Given the description of an element on the screen output the (x, y) to click on. 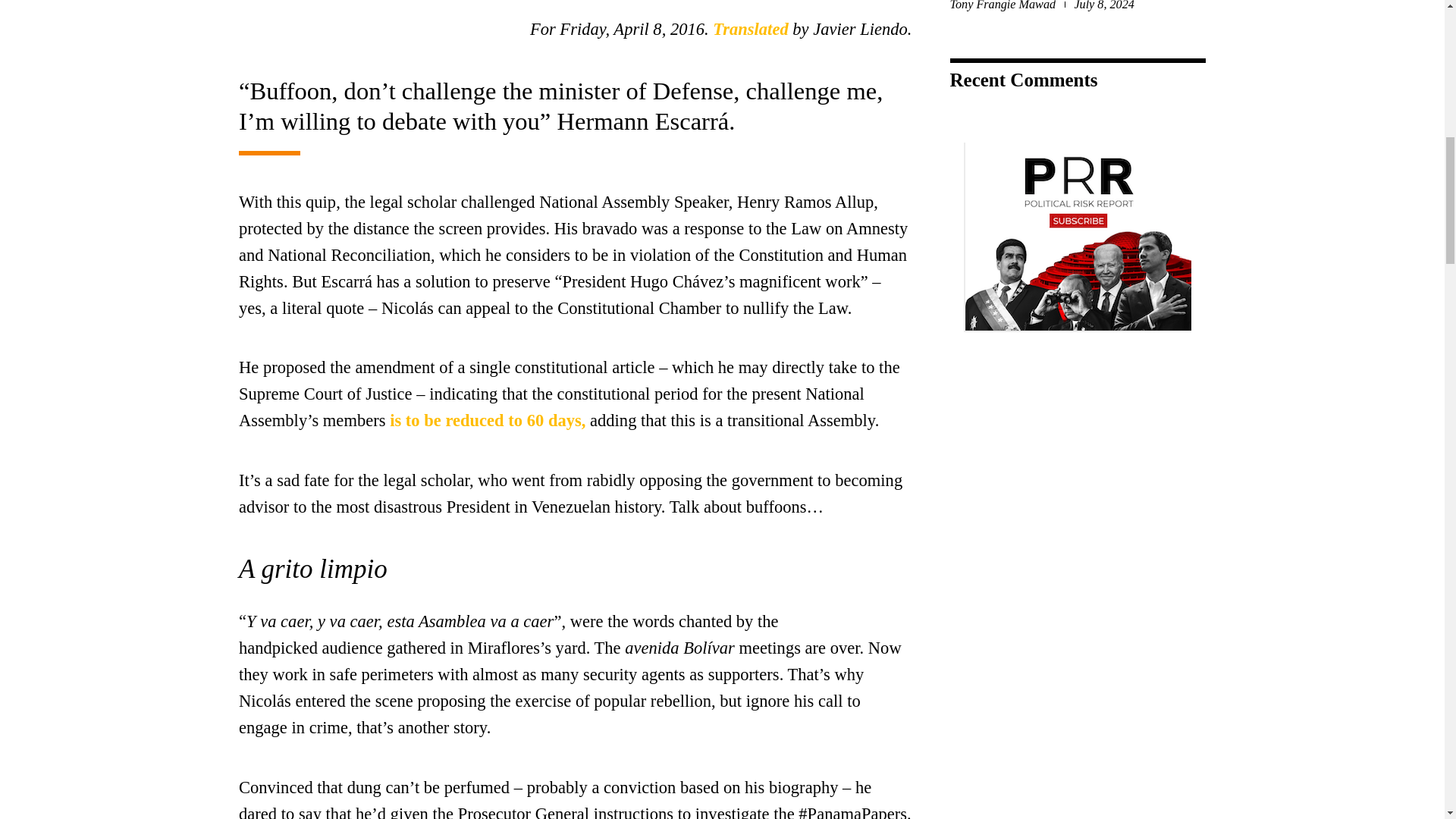
Translated (750, 28)
is to be reduced to 60 days, (487, 420)
